Given the description of an element on the screen output the (x, y) to click on. 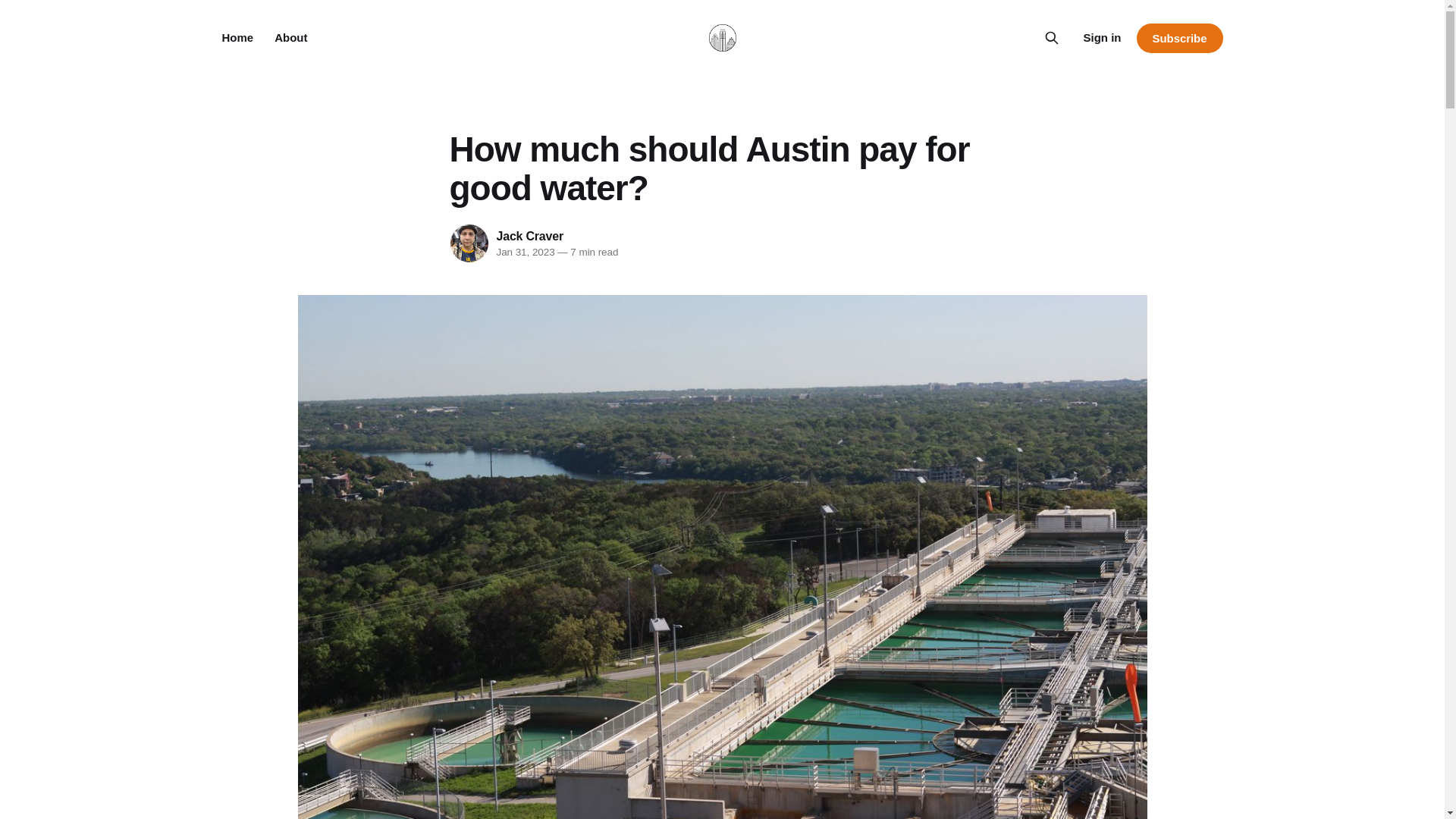
Sign in (1102, 37)
Subscribe (1179, 37)
About (291, 37)
Jack Craver (529, 235)
Home (237, 37)
